Given the description of an element on the screen output the (x, y) to click on. 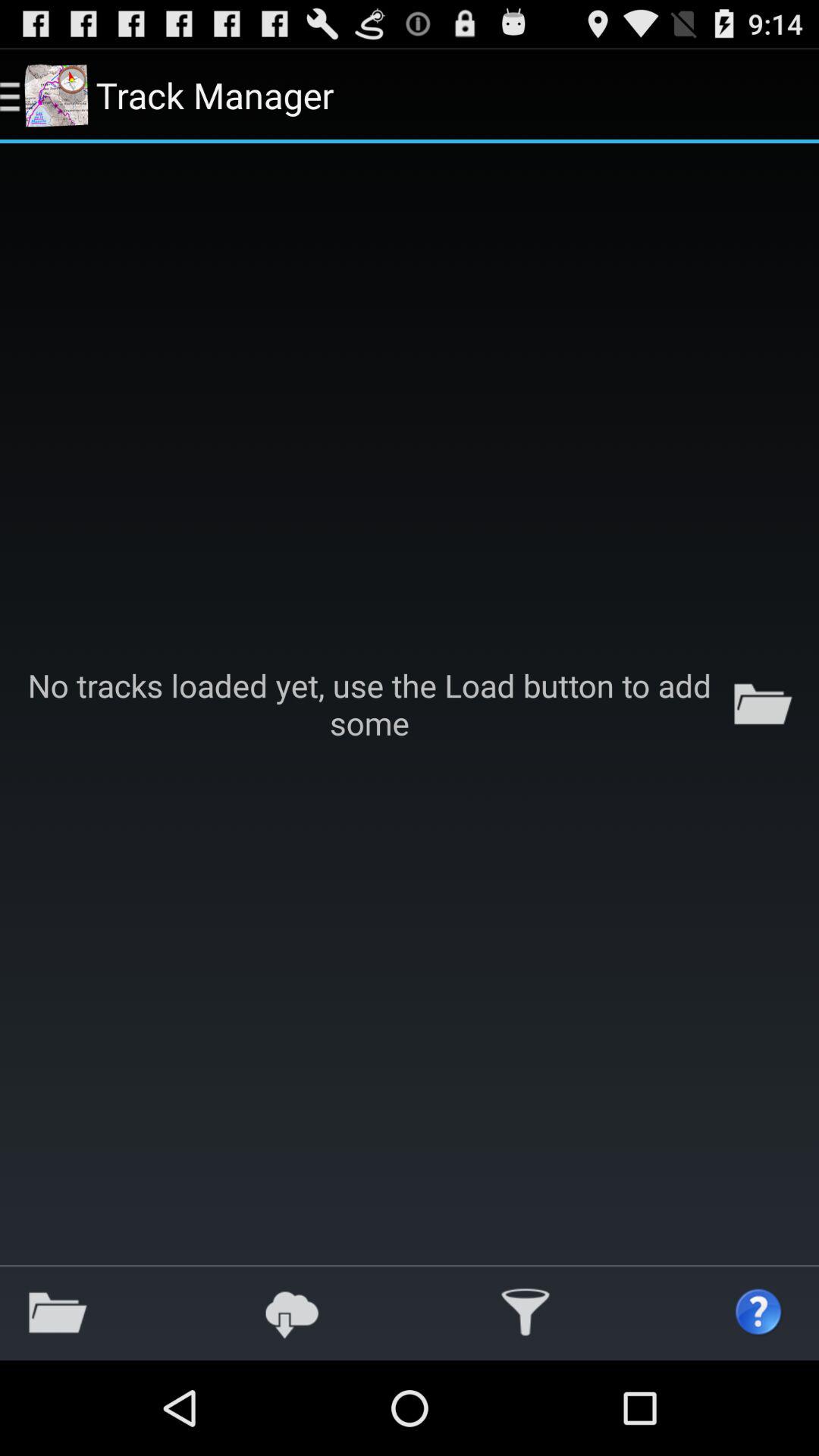
turn off the item at the bottom right corner (759, 1312)
